Given the description of an element on the screen output the (x, y) to click on. 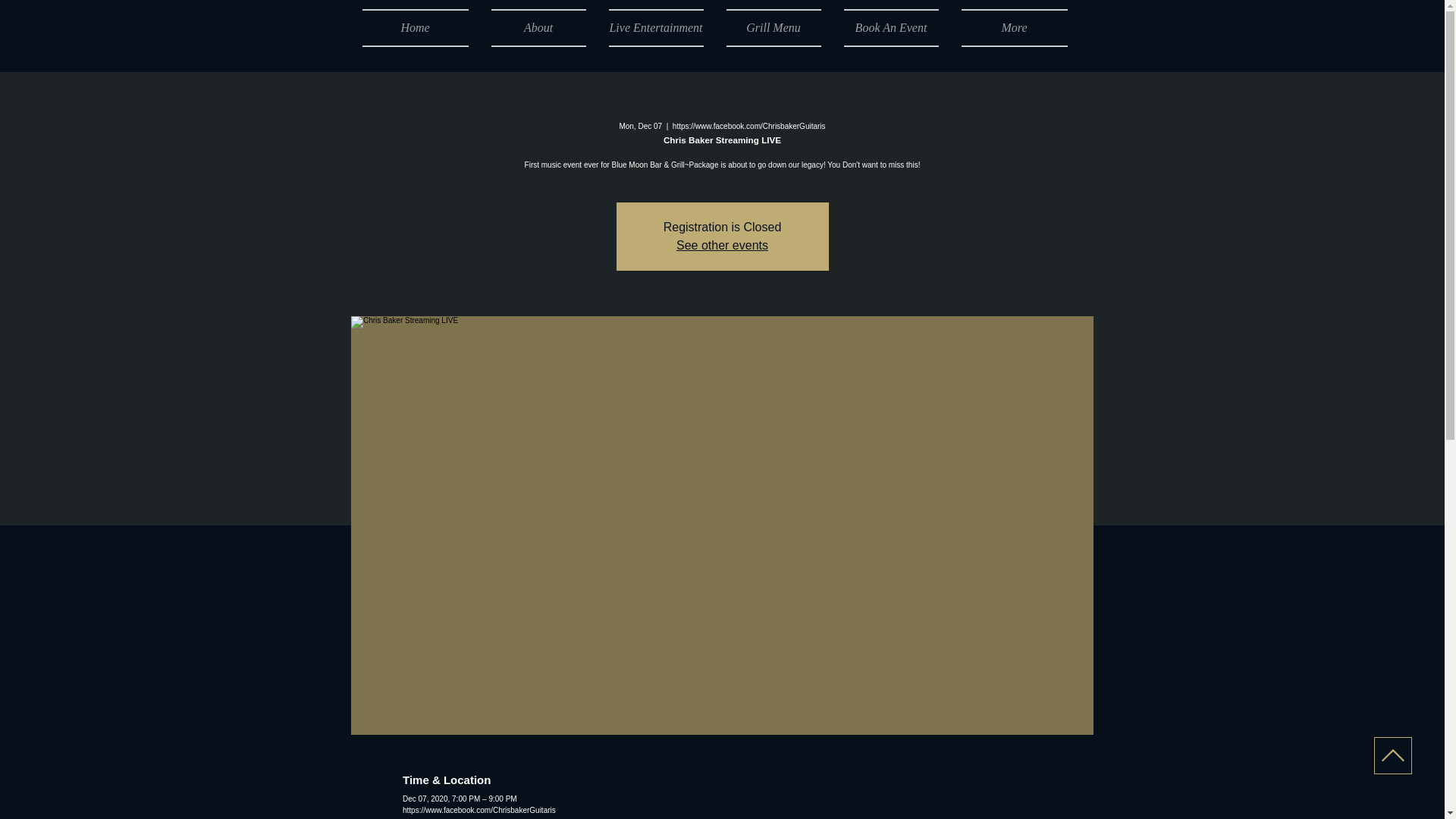
See other events (722, 245)
Live Entertainment (655, 27)
Grill Menu (772, 27)
About (537, 27)
Home (421, 27)
Book An Event (891, 27)
